Given the description of an element on the screen output the (x, y) to click on. 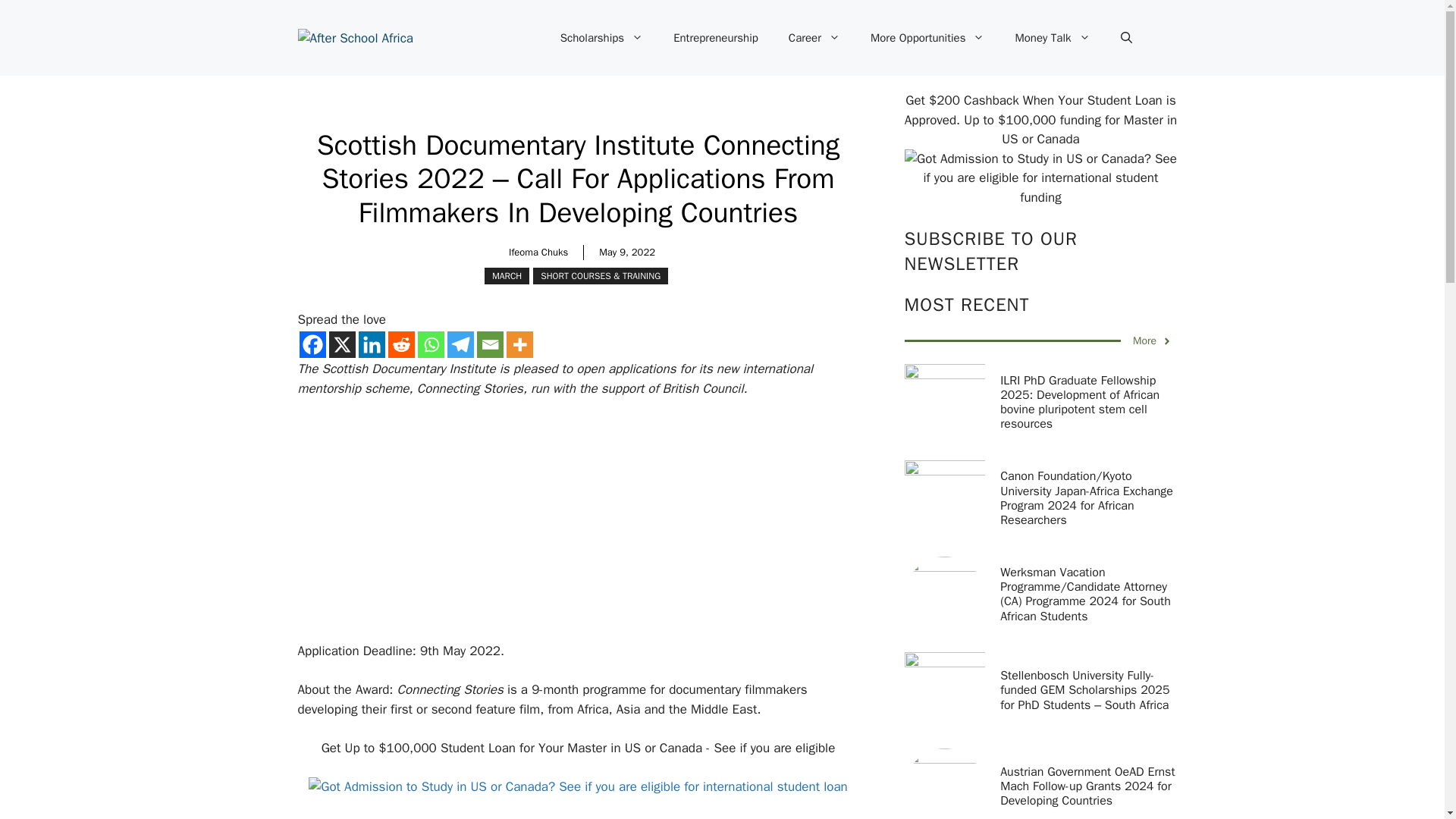
MARCH (506, 275)
Facebook (311, 344)
Email (489, 344)
Money Talk (1051, 37)
Linkedin (371, 344)
Career (814, 37)
Scholarships (601, 37)
Entrepreneurship (715, 37)
More (519, 344)
X (342, 344)
Reddit (401, 344)
Telegram (460, 344)
More Opportunities (928, 37)
Whatsapp (430, 344)
